Given the description of an element on the screen output the (x, y) to click on. 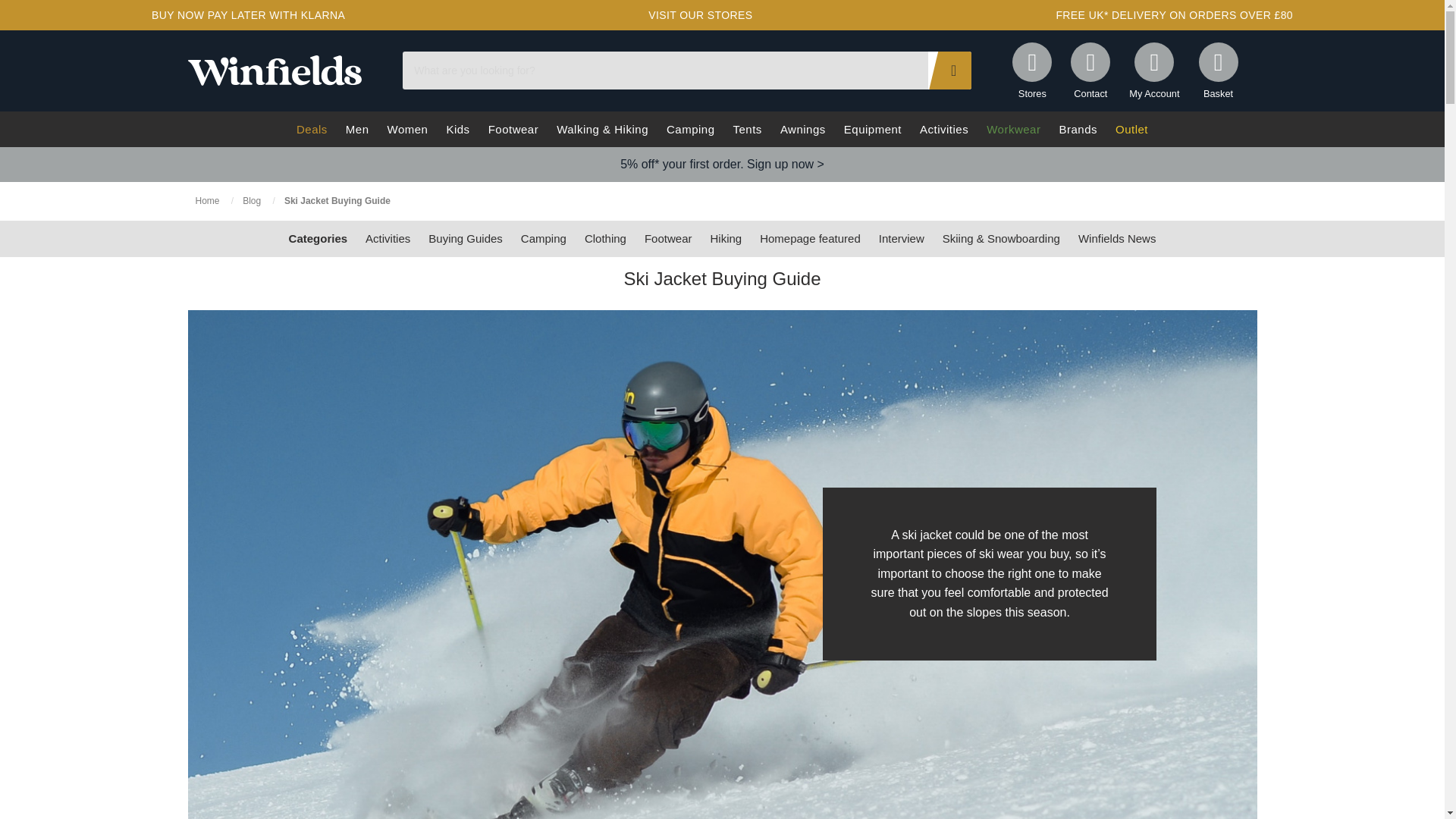
Search (949, 70)
Footwear (667, 238)
Winfields News (1117, 238)
Deals (311, 129)
VISIT OUR STORES (699, 15)
Homepage featured (810, 238)
Winfields Outdoors (274, 70)
Search (949, 70)
Camping (543, 238)
Blog (253, 200)
